Given the description of an element on the screen output the (x, y) to click on. 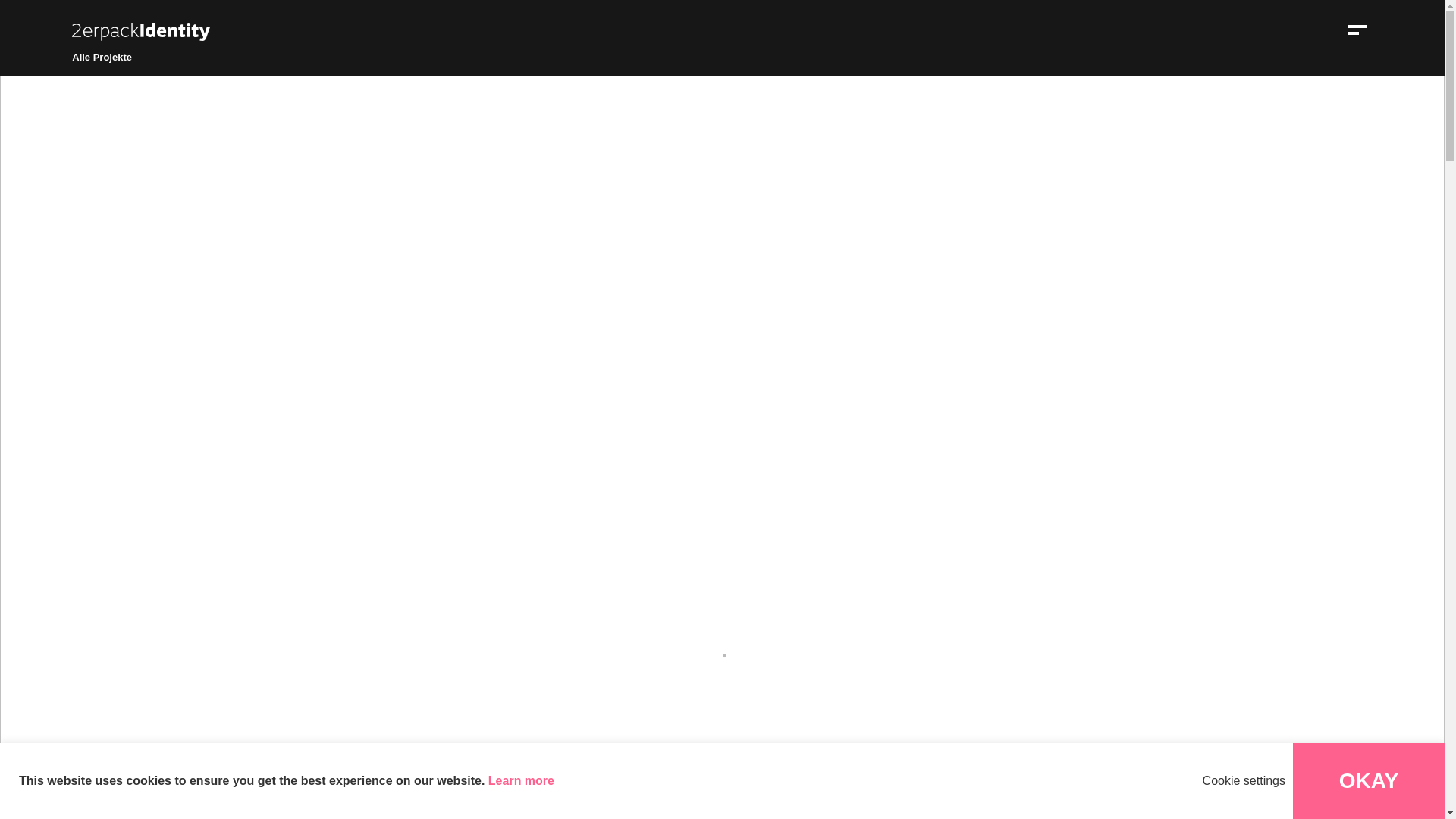
Cookie settings Element type: text (1243, 780)
Learn more Element type: text (521, 780)
